Given the description of an element on the screen output the (x, y) to click on. 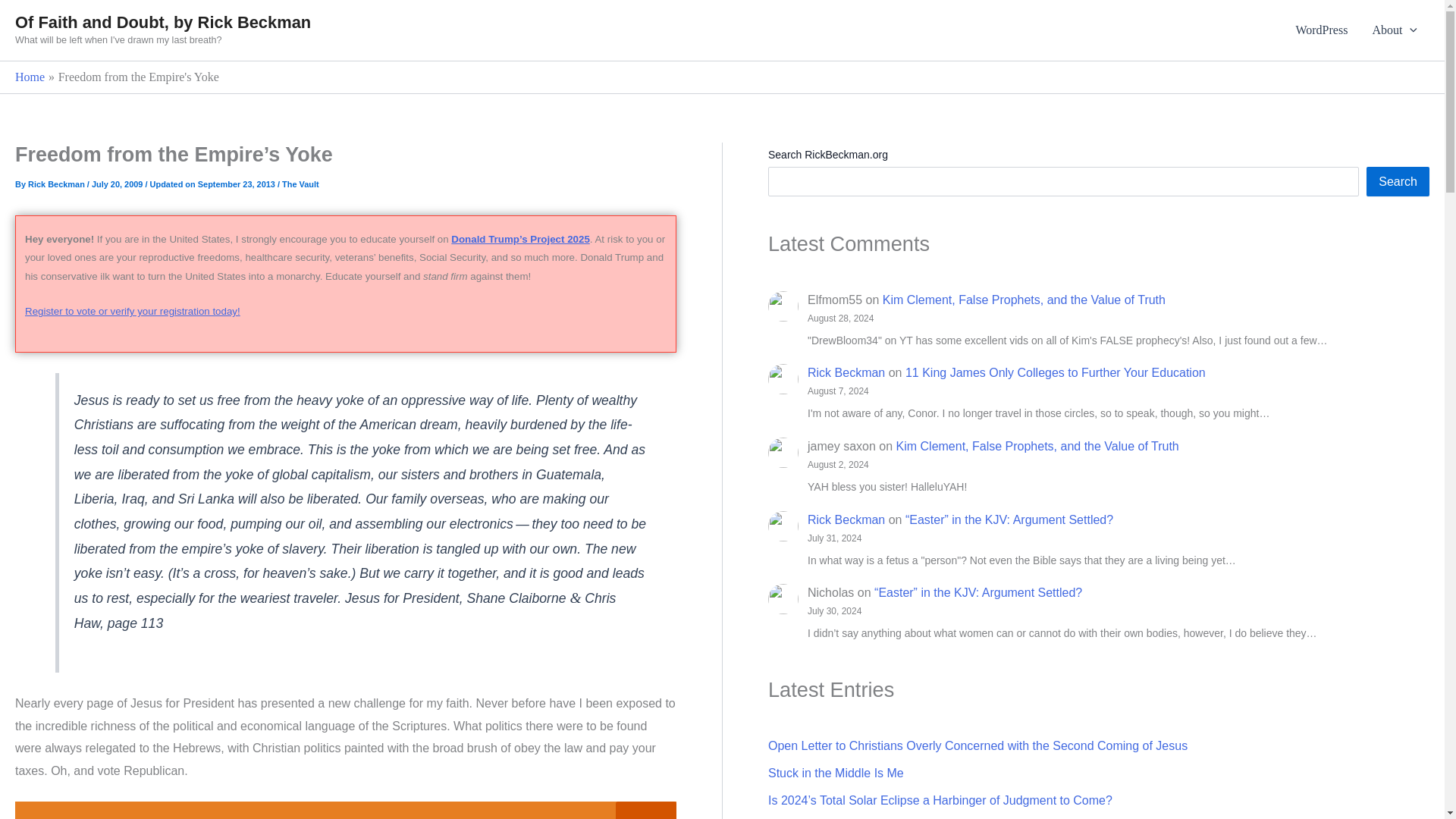
WordPress (1320, 30)
The Vault (300, 184)
Home (29, 76)
About (1394, 30)
Of Faith and Doubt, by Rick Beckman (162, 22)
CHECK IT OUT  Nap Time - Retro (345, 810)
Rick Beckman (57, 184)
View all posts by Rick Beckman (57, 184)
